Given the description of an element on the screen output the (x, y) to click on. 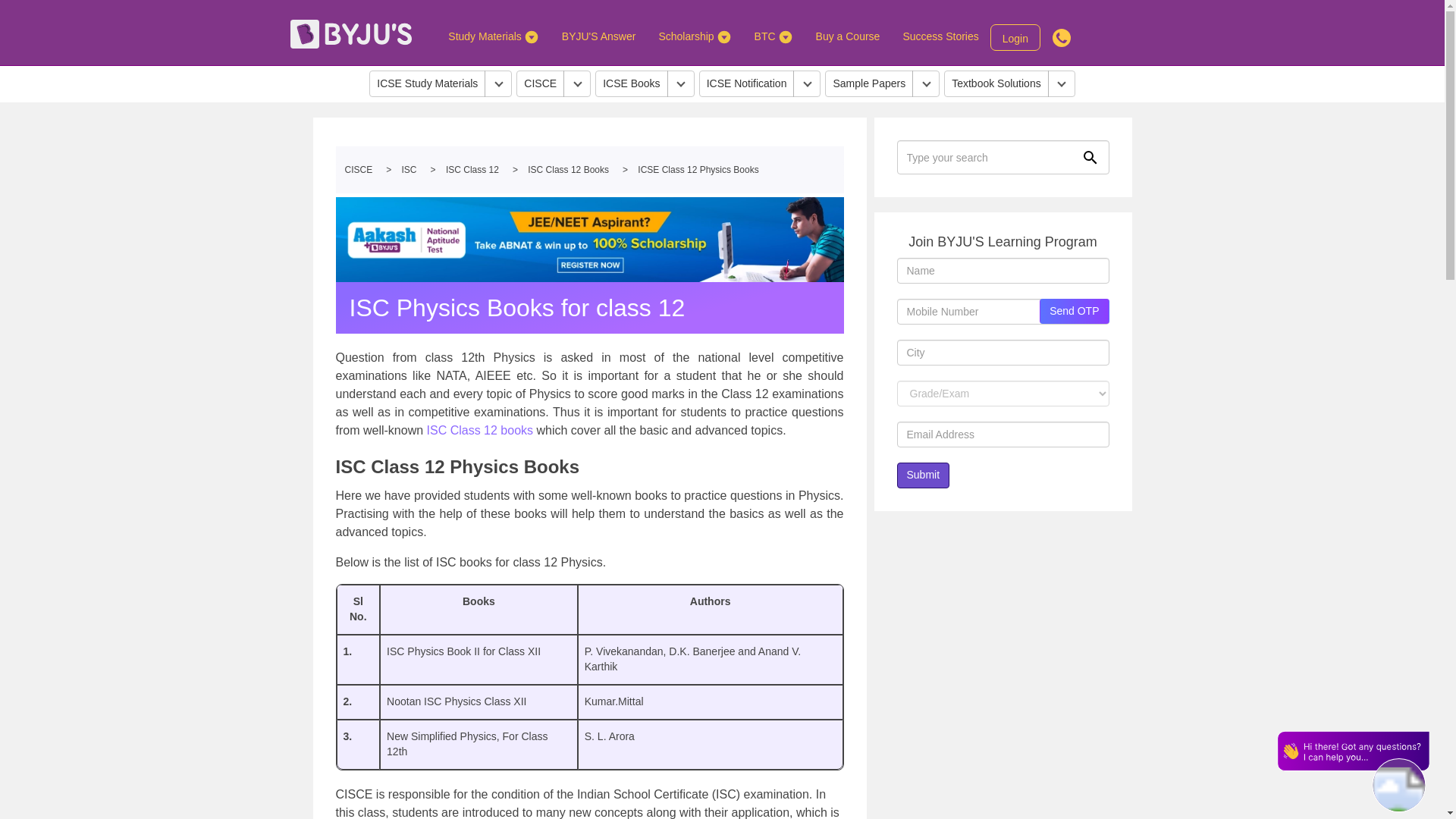
Study Materials (493, 35)
